Given the description of an element on the screen output the (x, y) to click on. 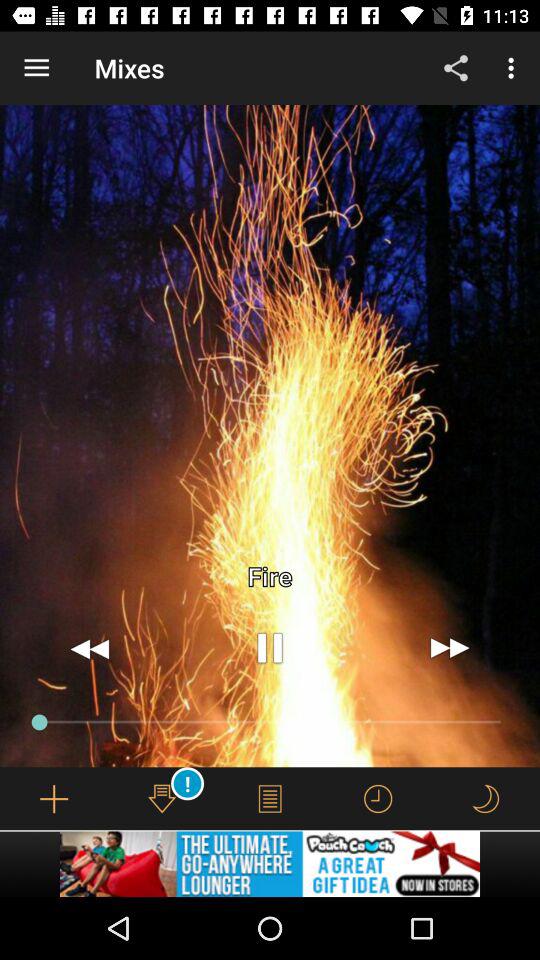
open advert (270, 864)
